Given the description of an element on the screen output the (x, y) to click on. 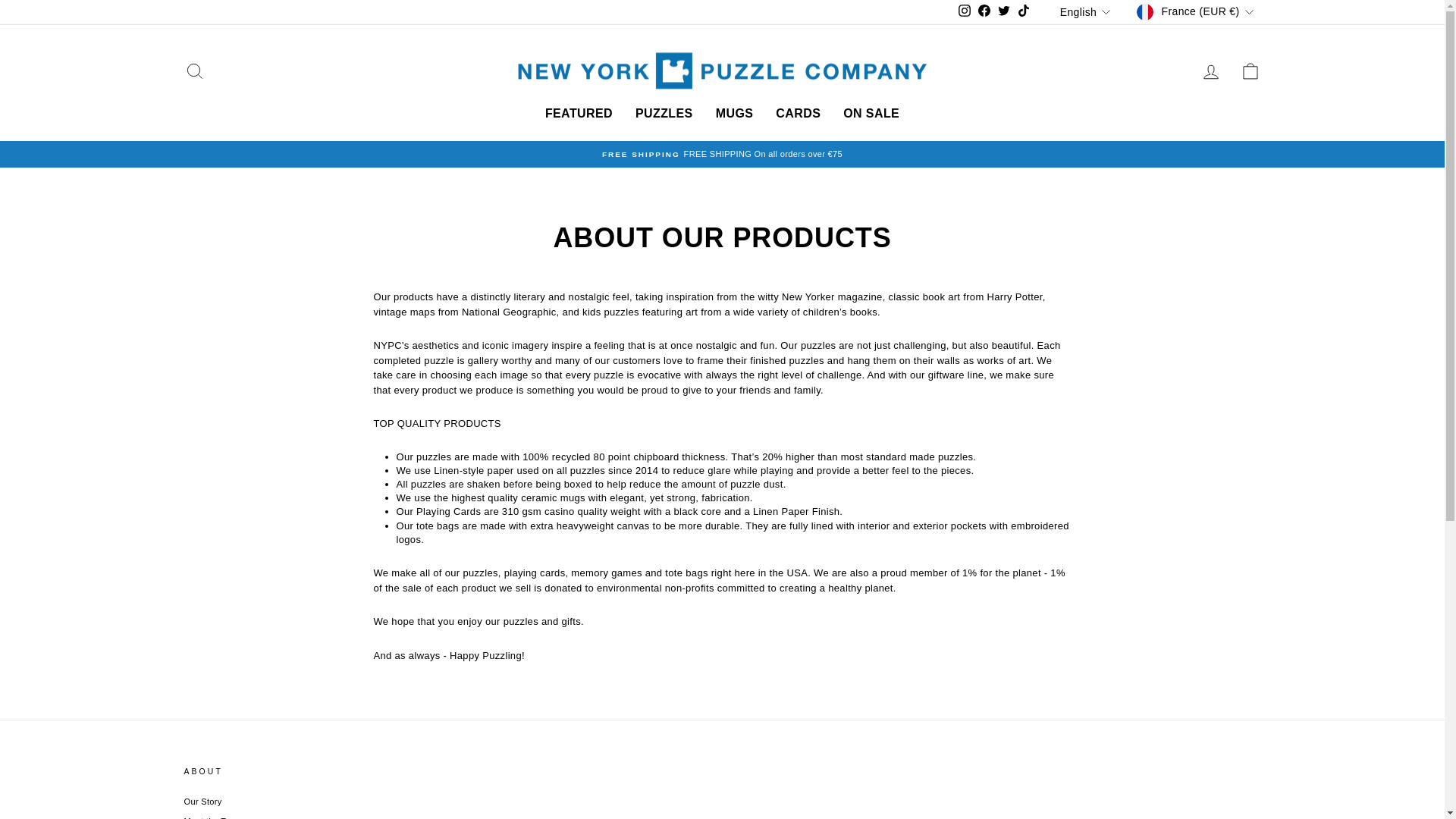
New York Puzzle Company on Twitter (1003, 12)
New York Puzzle Company on Facebook (984, 12)
New York Puzzle Company on Instagram (964, 12)
New York Puzzle Company on TikTok (1023, 12)
